Given the description of an element on the screen output the (x, y) to click on. 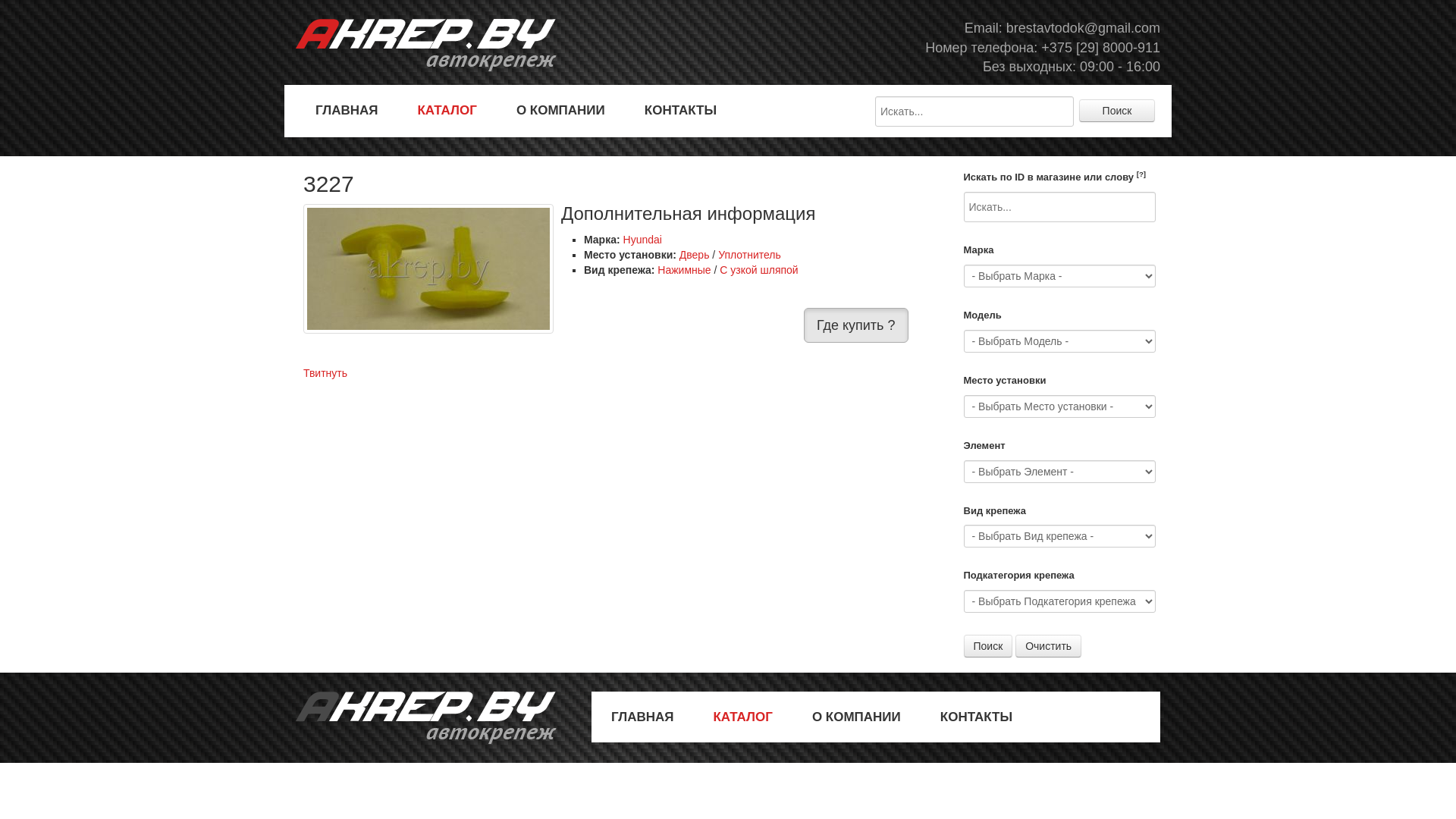
Hyundai Element type: text (642, 239)
